Given the description of an element on the screen output the (x, y) to click on. 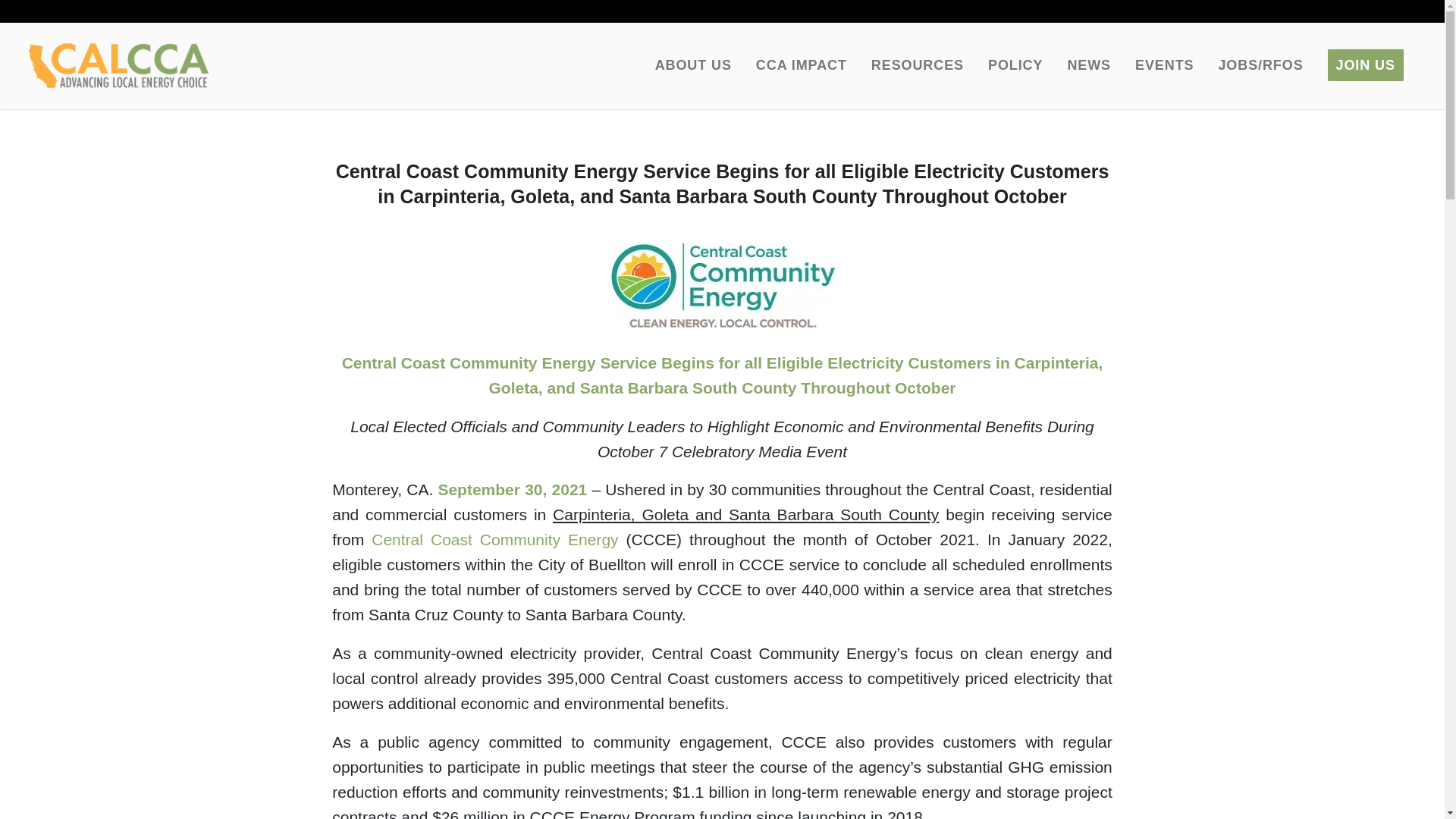
Central Coast Community Energy (494, 538)
EVENTS (1163, 65)
RESOURCES (917, 65)
POLICY (1014, 65)
ABOUT US (693, 65)
JOIN US (1365, 65)
CCA IMPACT (801, 65)
logo (118, 65)
